Given the description of an element on the screen output the (x, y) to click on. 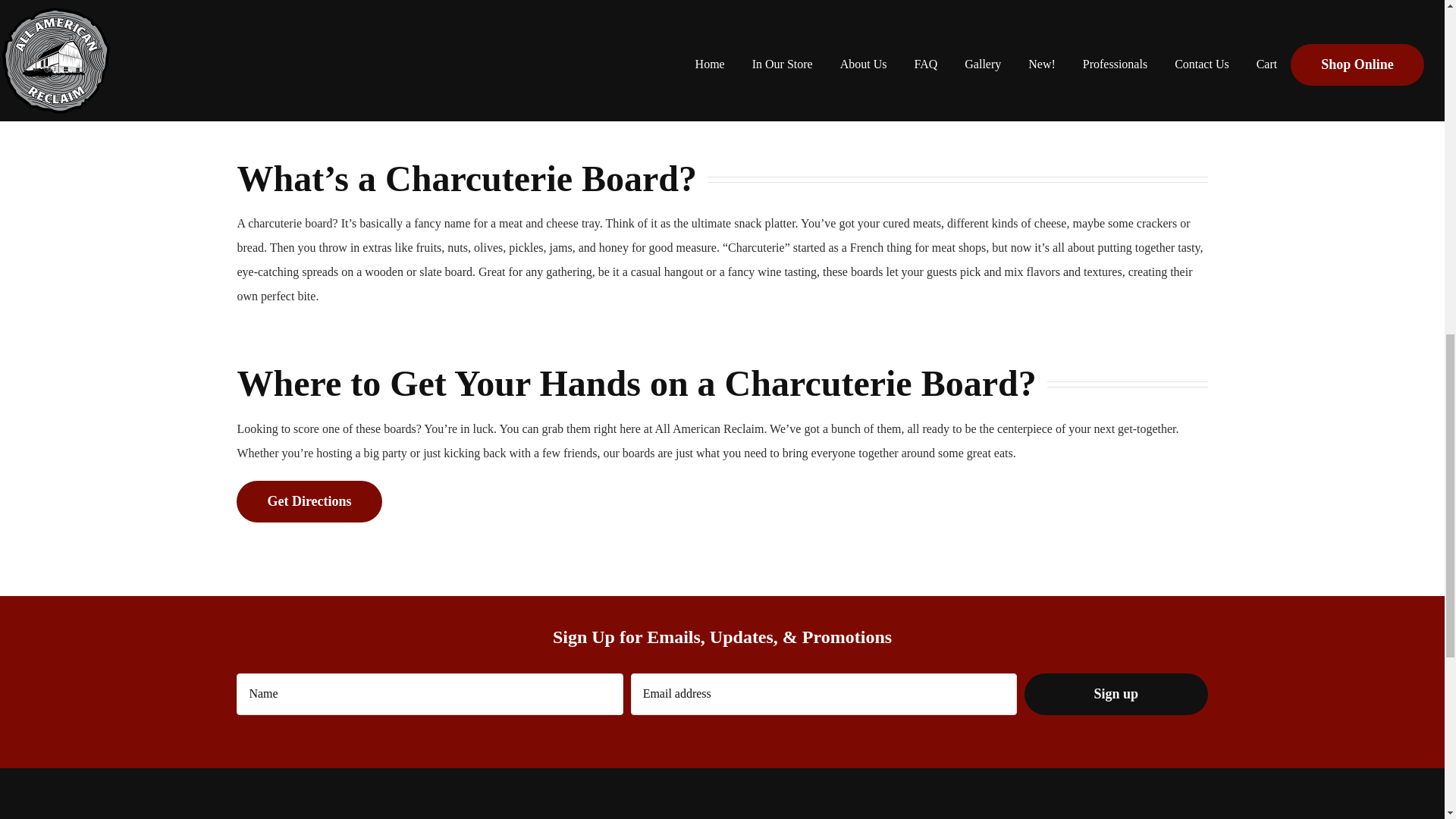
Charcuterie Boards (354, 58)
Sign up (1116, 693)
Charcuterie Board Styles (600, 58)
